Given the description of an element on the screen output the (x, y) to click on. 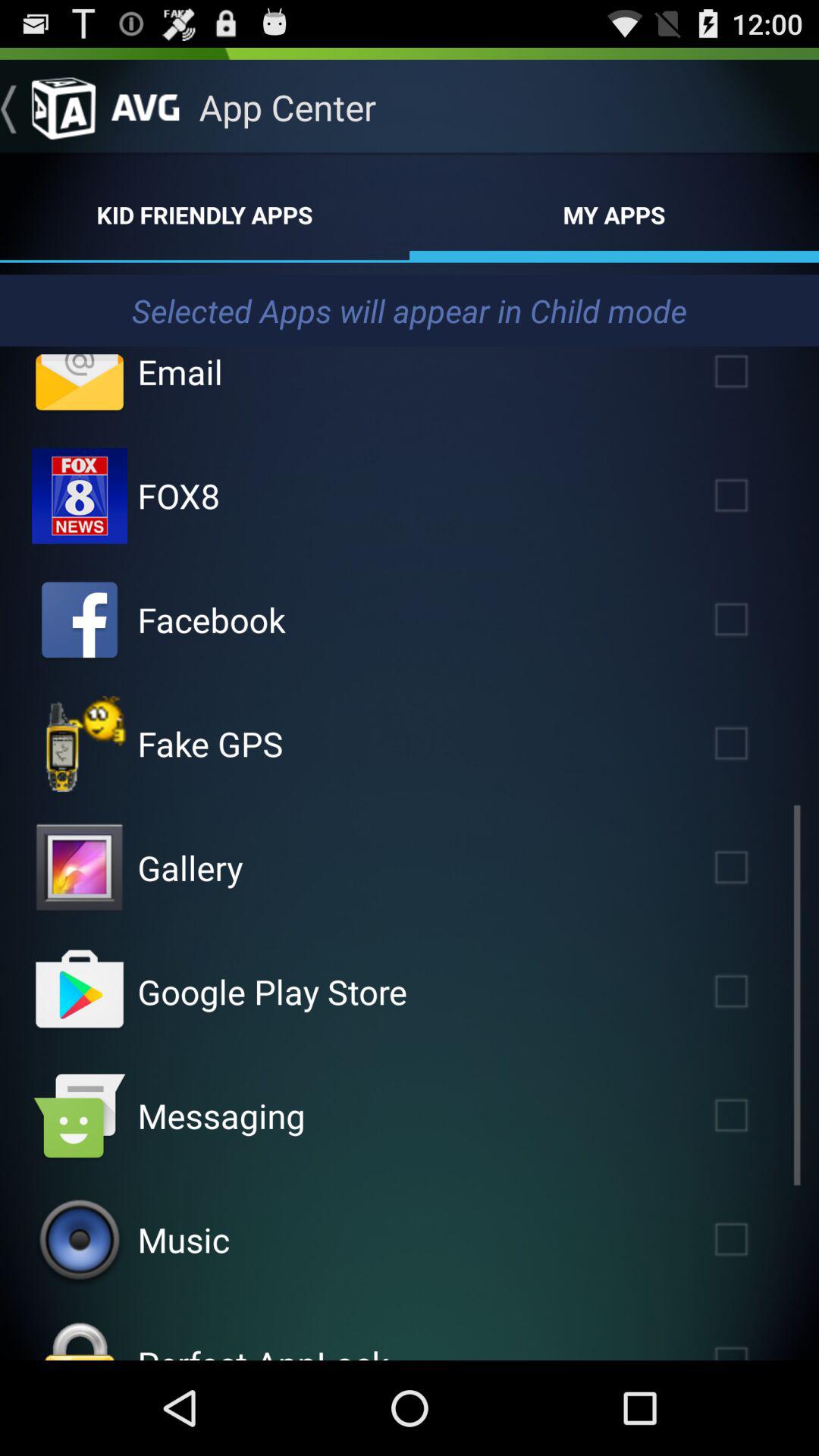
select fox8 (79, 495)
